Given the description of an element on the screen output the (x, y) to click on. 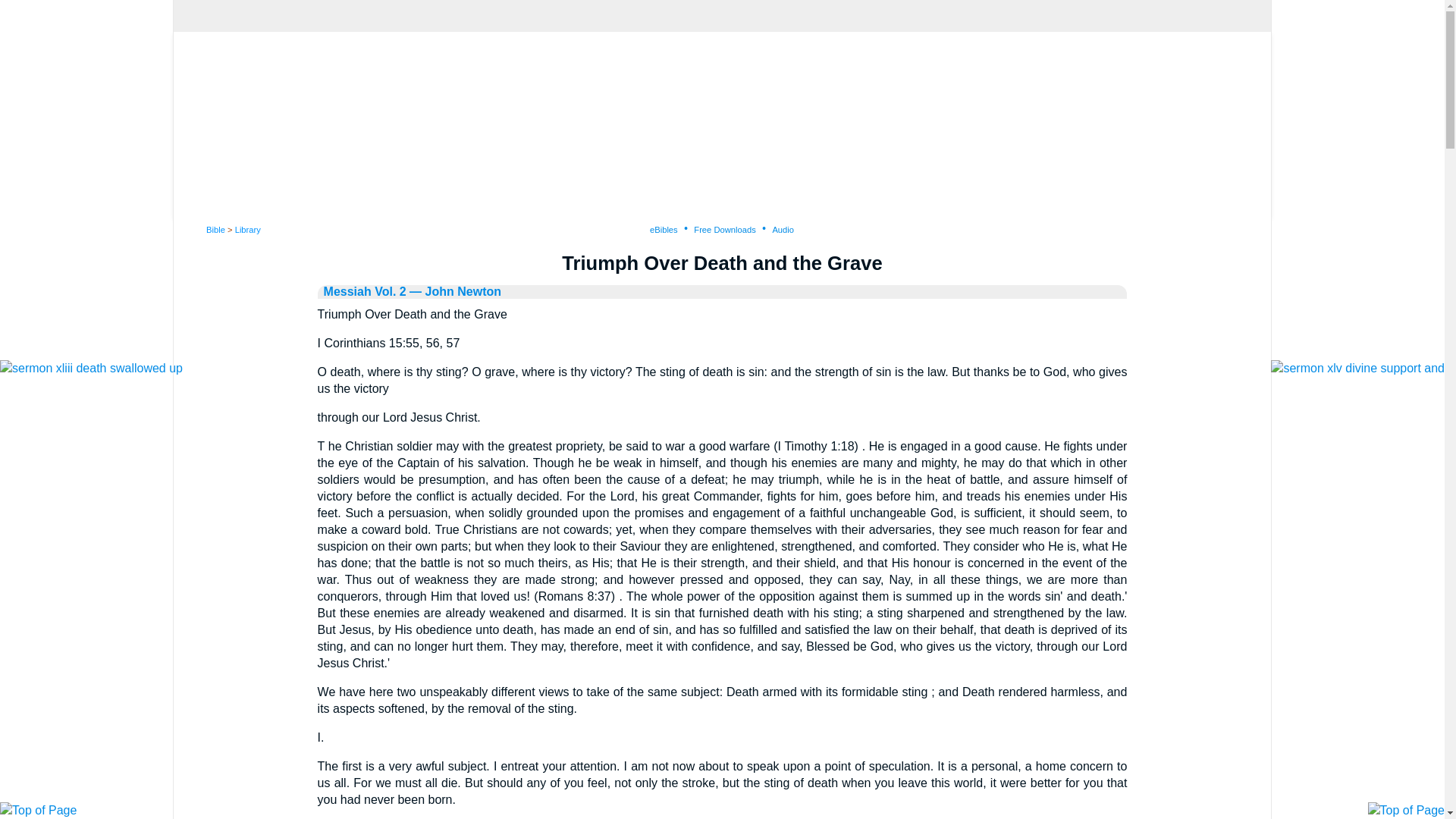
Library (247, 229)
sermon xliii death swallowed up (91, 367)
Bible (215, 229)
Top of Page (38, 809)
Messiah Vol. 2 (364, 291)
